Given the description of an element on the screen output the (x, y) to click on. 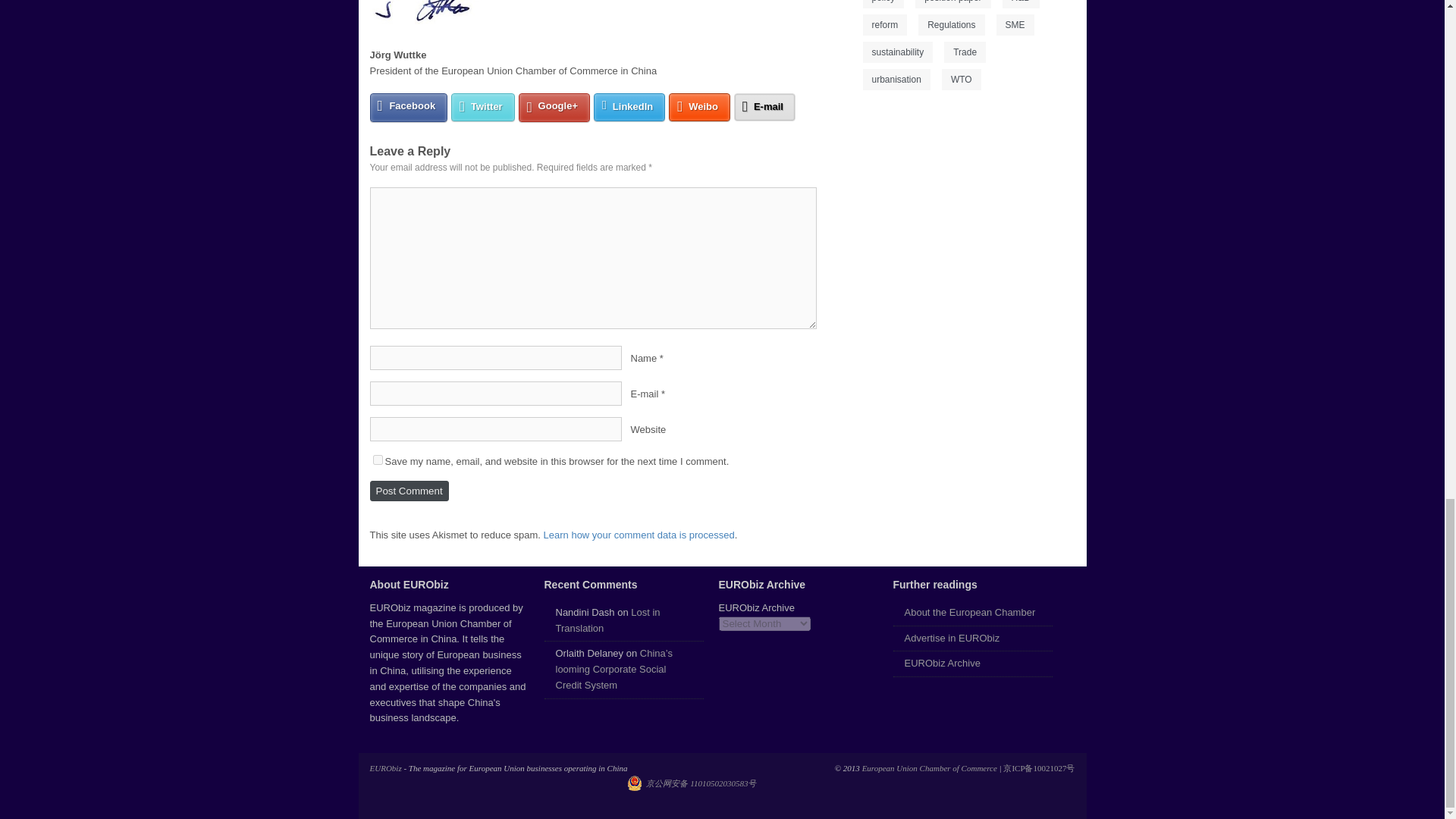
Post Comment (408, 490)
yes (377, 460)
Share this article on Weibo (699, 107)
Share this article on Twitter (483, 107)
Share this article on Facebook (408, 107)
Share this article on LinkedIn (629, 107)
